Given the description of an element on the screen output the (x, y) to click on. 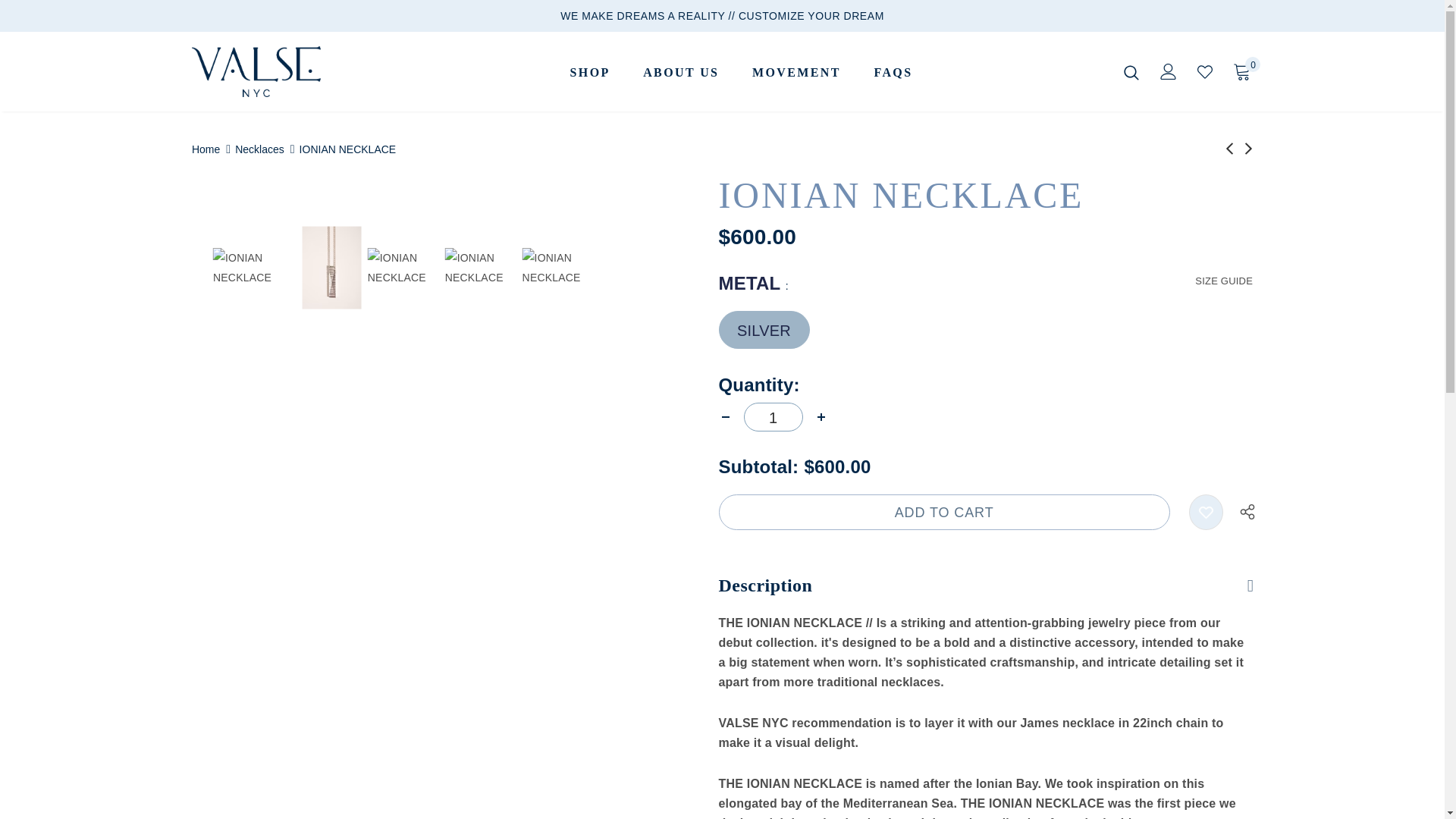
Home (205, 148)
ABOUT US (681, 72)
Add to cart (944, 511)
SHOP (589, 72)
0 (1241, 71)
1 (772, 416)
Cart Icon (1241, 71)
My Wish Lists (1204, 71)
FAQS (892, 72)
Necklaces (258, 149)
Logo (286, 71)
Search Icon (1131, 71)
MOVEMENT (796, 72)
